Given the description of an element on the screen output the (x, y) to click on. 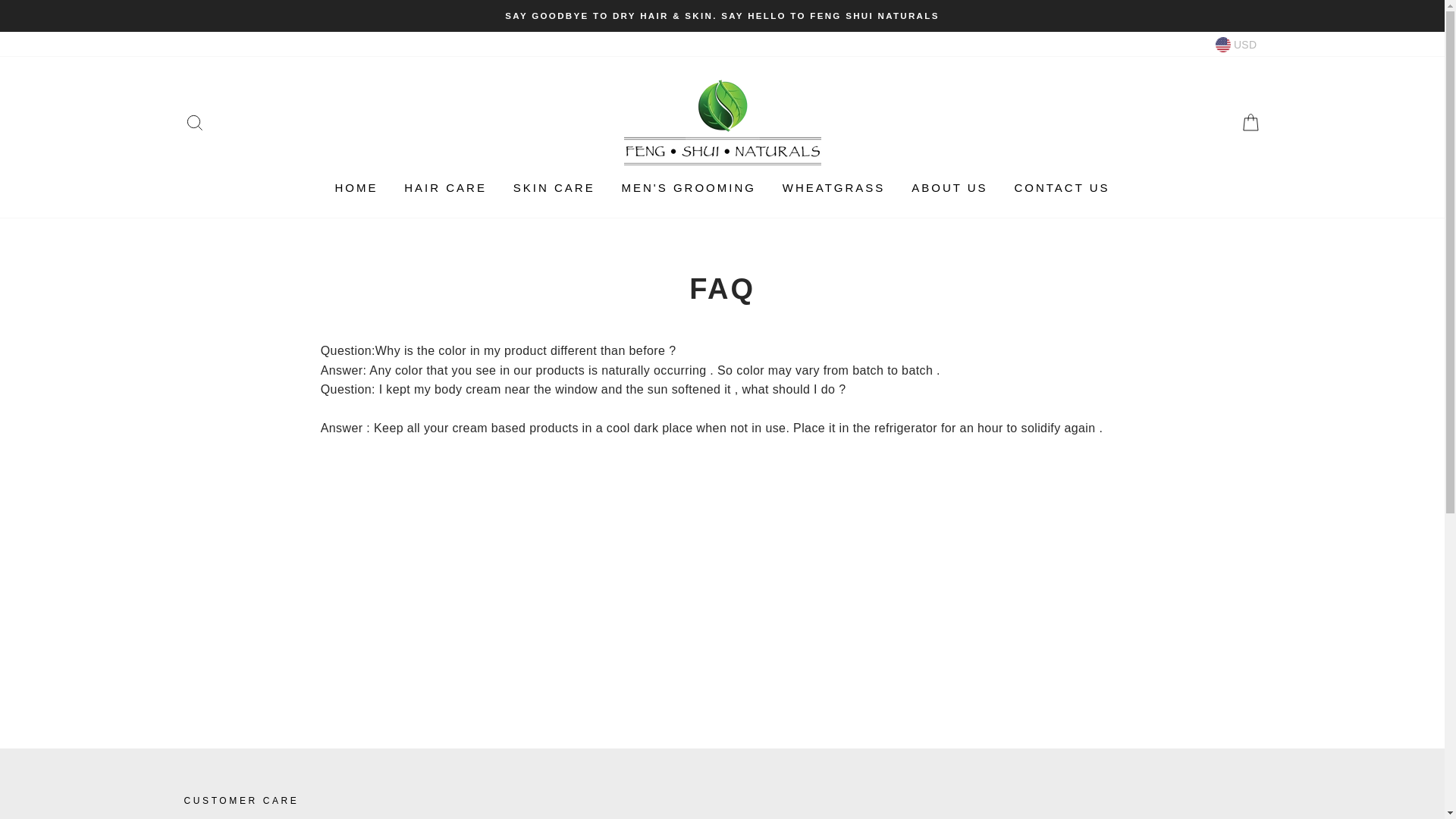
CART (1249, 122)
HOME (355, 187)
CONTACT US (1062, 187)
USD (1236, 44)
WHEATGRASS (833, 187)
SEARCH (194, 122)
MEN'S GROOMING (688, 187)
SKIN CARE (554, 187)
HAIR CARE (445, 187)
ABOUT US (948, 187)
